Given the description of an element on the screen output the (x, y) to click on. 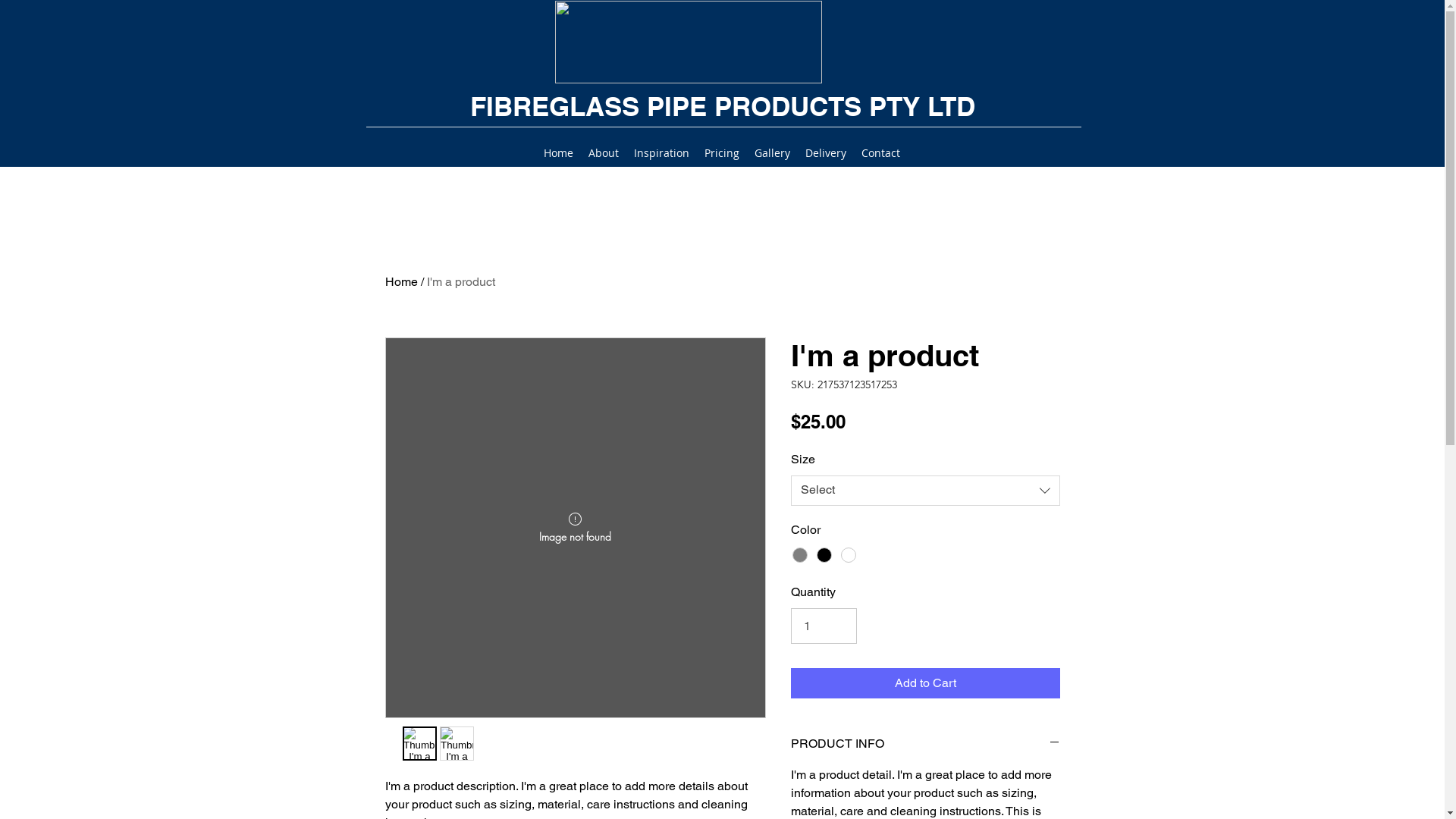
Contact Element type: text (880, 152)
Gallery Element type: text (771, 152)
Home Element type: text (401, 281)
Pricing Element type: text (721, 152)
About Element type: text (603, 152)
PRODUCT INFO Element type: text (924, 743)
Select Element type: text (924, 490)
Inspiration Element type: text (661, 152)
Add to Cart Element type: text (924, 683)
FIBREGLASS PIPE PRODUCTS PTY LTD Element type: text (722, 106)
Delivery Element type: text (825, 152)
I'm a product Element type: text (460, 281)
Home Element type: text (558, 152)
